Given the description of an element on the screen output the (x, y) to click on. 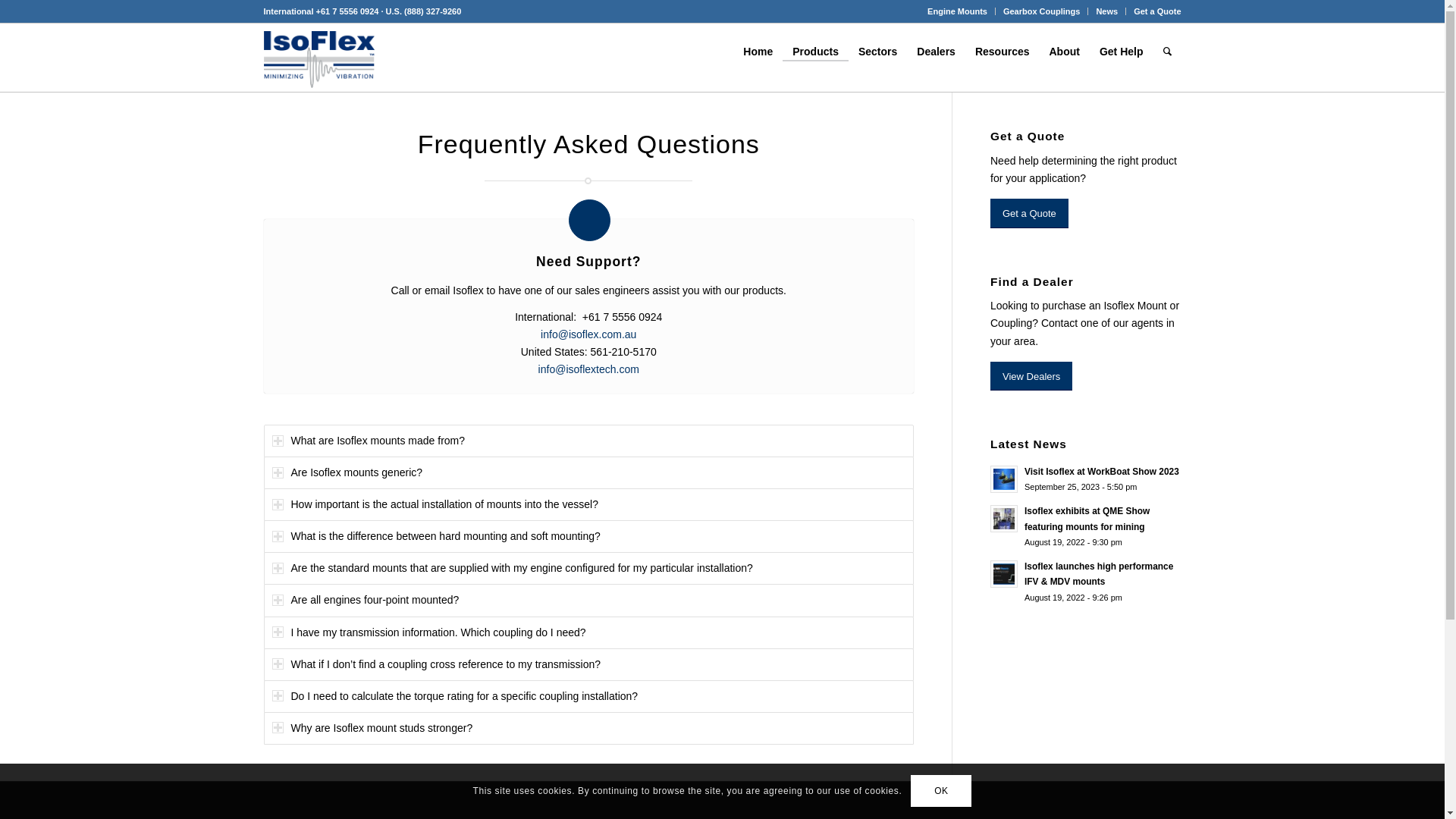
About Element type: text (1063, 51)
Read: Visit Isoflex at WorkBoat Show 2023 Element type: hover (1003, 478)
Dealers Element type: text (935, 51)
Engine Mounts Element type: text (957, 11)
info@isoflex.com.au Element type: text (588, 334)
Sectors Element type: text (877, 51)
agents Element type: text (1147, 322)
Get a Quote Element type: text (1156, 11)
Isoflex launches high performance IFV & MDV mounts Element type: text (1098, 573)
OK Element type: text (940, 790)
Visit Isoflex at WorkBoat Show 2023 Element type: text (1101, 471)
Get a Quote Element type: text (1029, 213)
Home Element type: text (757, 51)
View Dealers Element type: text (1031, 375)
info@isoflextech.com Element type: text (588, 369)
Read: Isoflex launches high performance IFV & MDV mounts Element type: hover (1003, 573)
Isoflex exhibits at QME Show featuring mounts for mining Element type: text (1086, 518)
News Element type: text (1106, 11)
Get Help Element type: text (1121, 51)
Gearbox Couplings Element type: text (1041, 11)
Resources Element type: text (1002, 51)
Products Element type: text (815, 51)
